Given the description of an element on the screen output the (x, y) to click on. 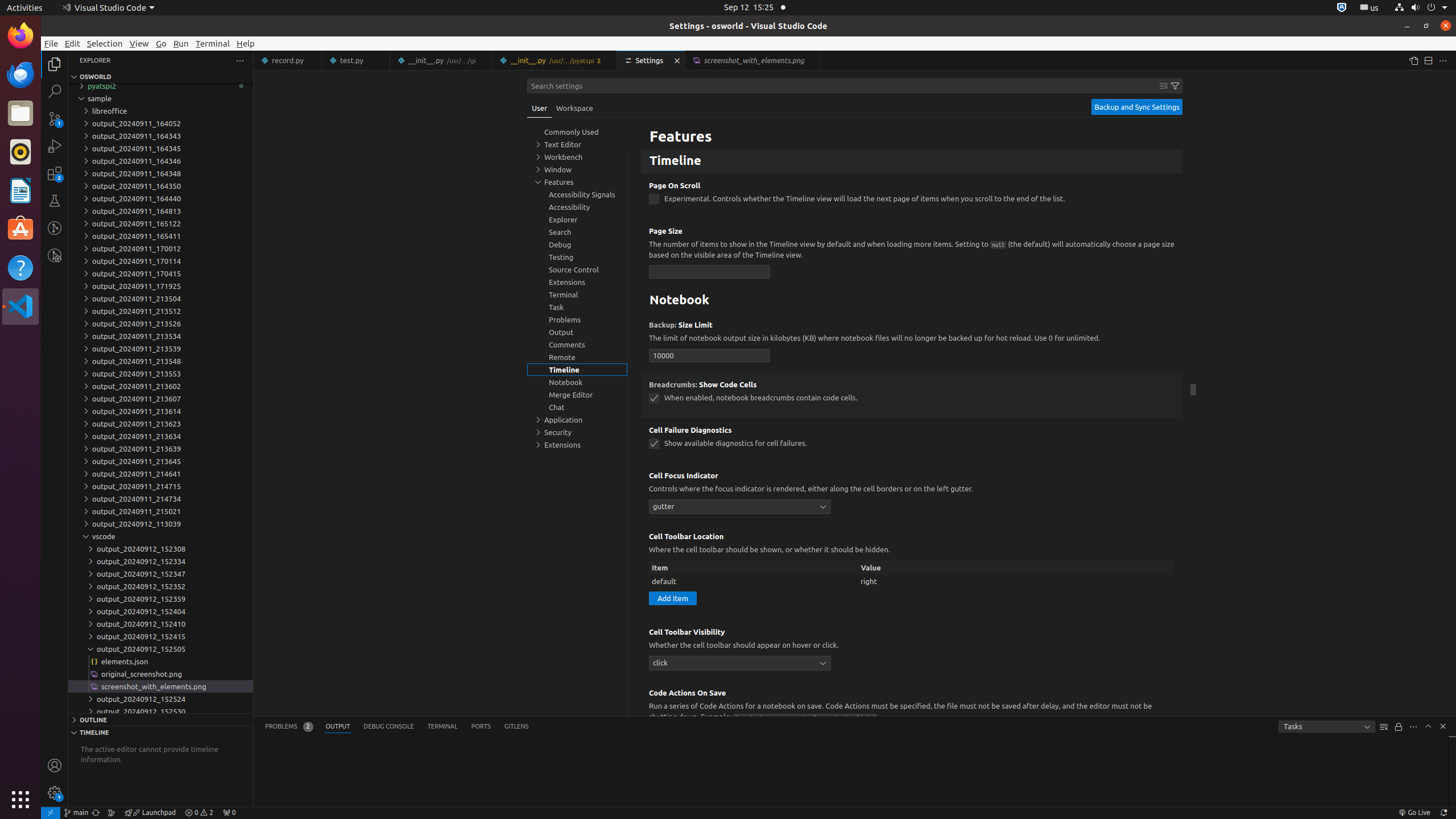
pyatspi2 Element type: tree-item (160, 85)
Source Control (Ctrl+Shift+G G) - 1 pending changes Source Control (Ctrl+Shift+G G) - 1 pending changes Element type: page-tab (54, 118)
Explorer (Ctrl+Shift+E) Element type: page-tab (54, 63)
Backup Size Limit. The limit of notebook output size in kilobytes (KB) where notebook files will no longer be backed up for hot reload. Use 0 for unlimited.  Element type: tree-item (911, 342)
output_20240911_213645 Element type: tree-item (160, 461)
